Given the description of an element on the screen output the (x, y) to click on. 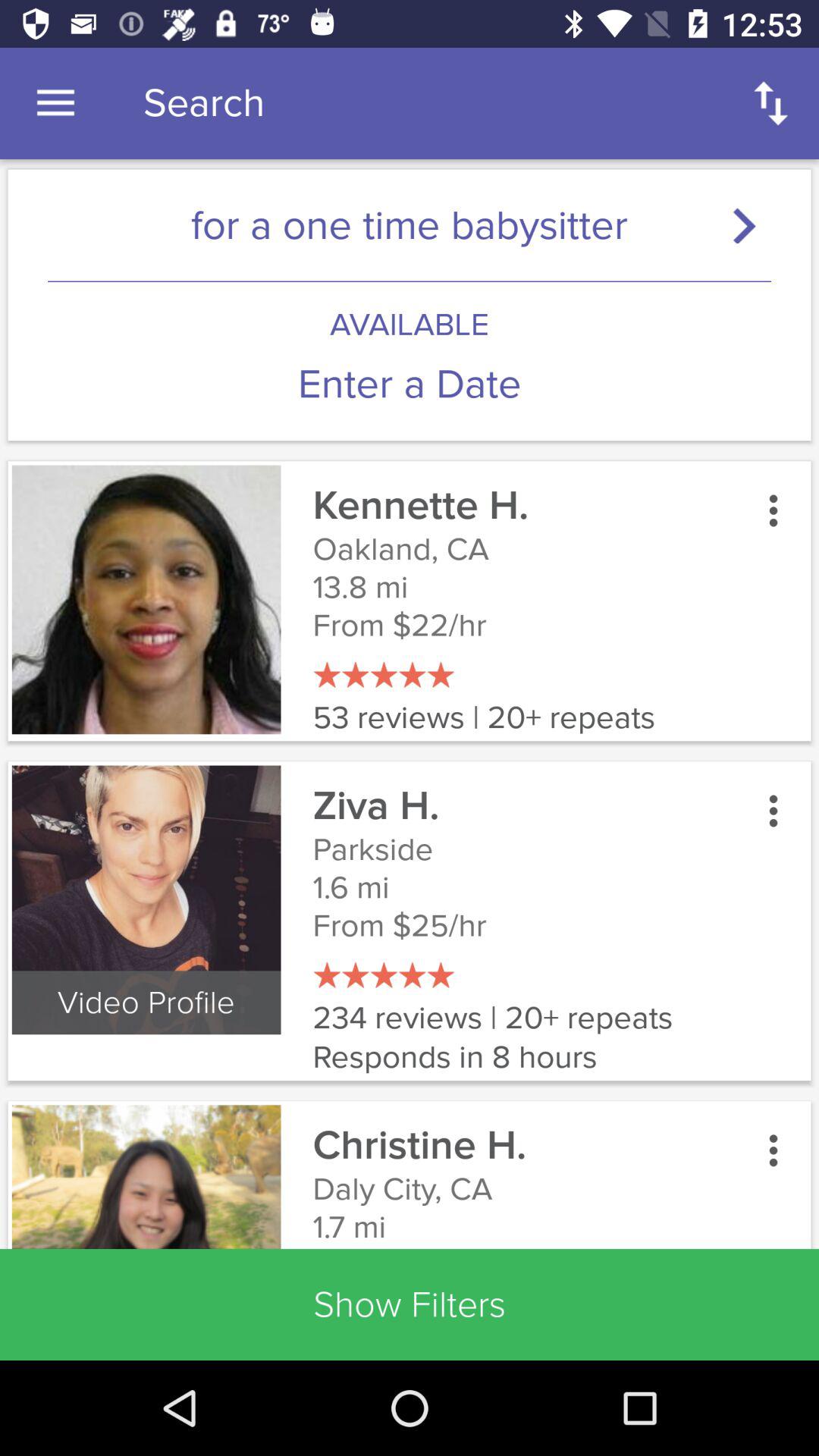
open the item above for a one item (55, 103)
